Given the description of an element on the screen output the (x, y) to click on. 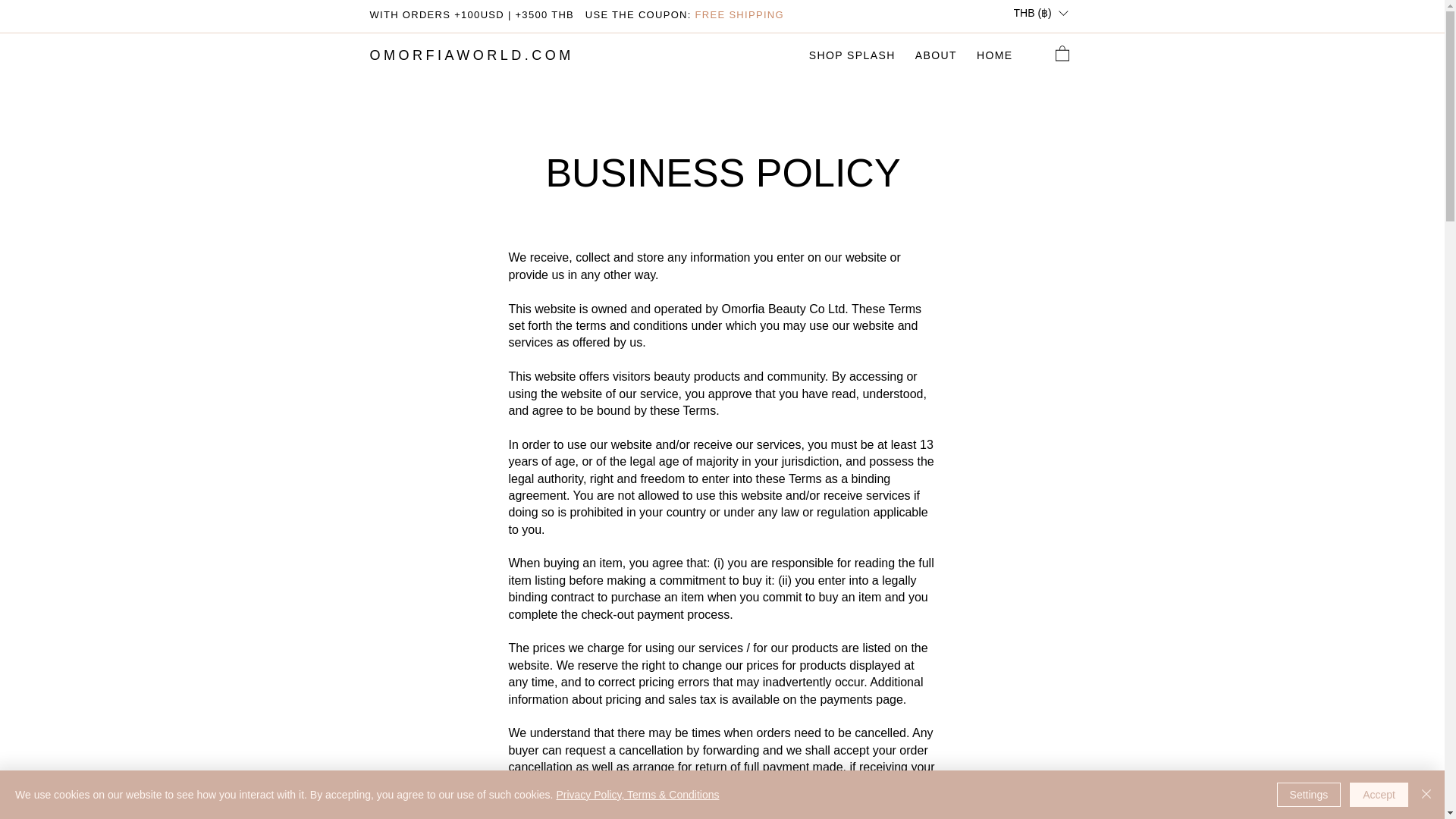
Accept (1378, 794)
HOME (826, 55)
SHOP SPLASH (994, 55)
OMORFIAWORLD.COM (852, 55)
ABOUT (471, 55)
Settings (935, 55)
